Given the description of an element on the screen output the (x, y) to click on. 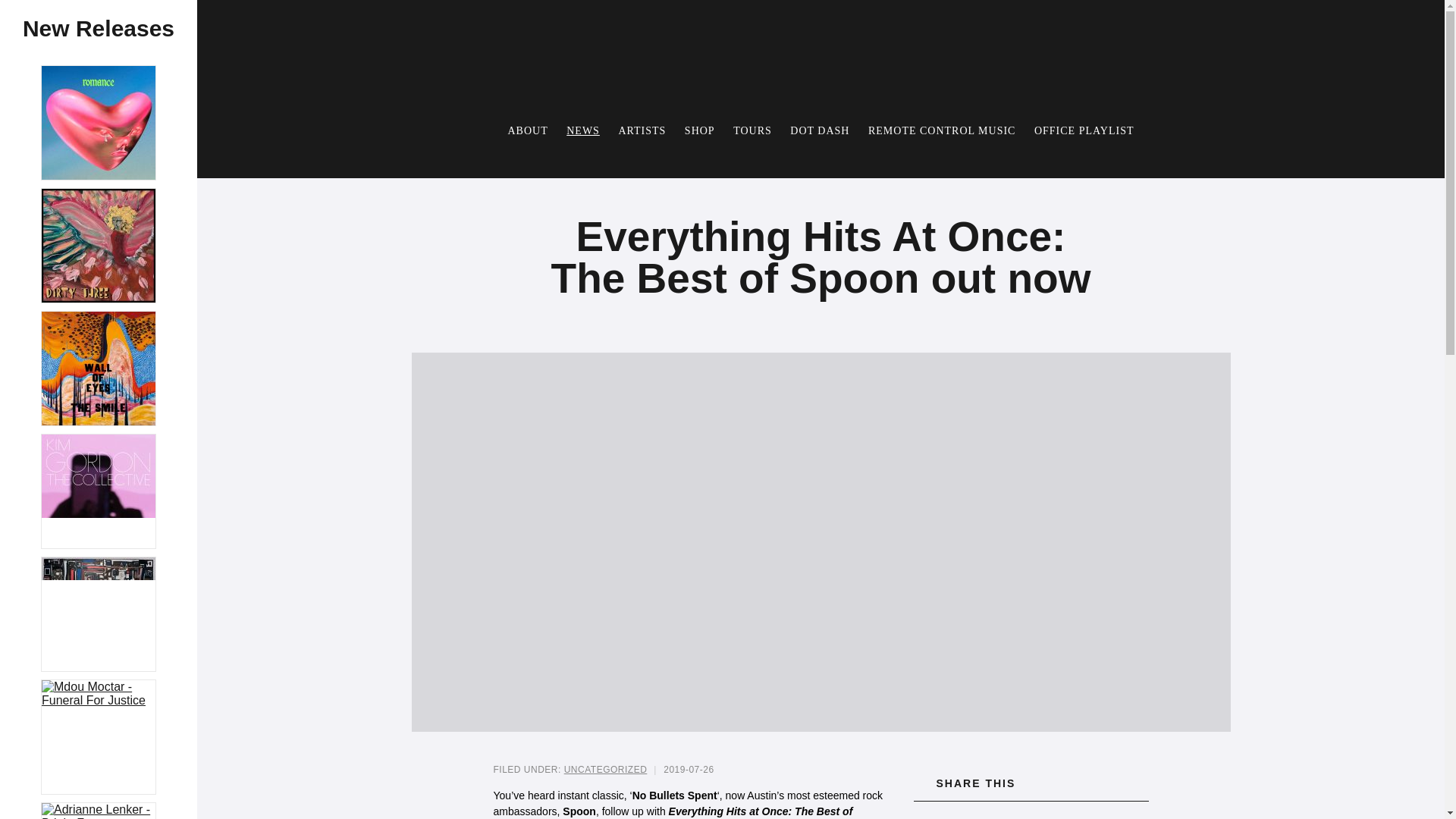
Kim Gordon - The Collective (98, 490)
ARTISTS (641, 130)
UNCATEGORIZED (605, 769)
NEWS (582, 130)
REMOTE CONTROL MUSIC (941, 130)
SHOP (699, 130)
ARTIST WEBSITE (1030, 810)
Dirty Three - Love Changes Everything (98, 245)
TOURS (752, 130)
The Smile - Wall Of Eyes (98, 368)
